Given the description of an element on the screen output the (x, y) to click on. 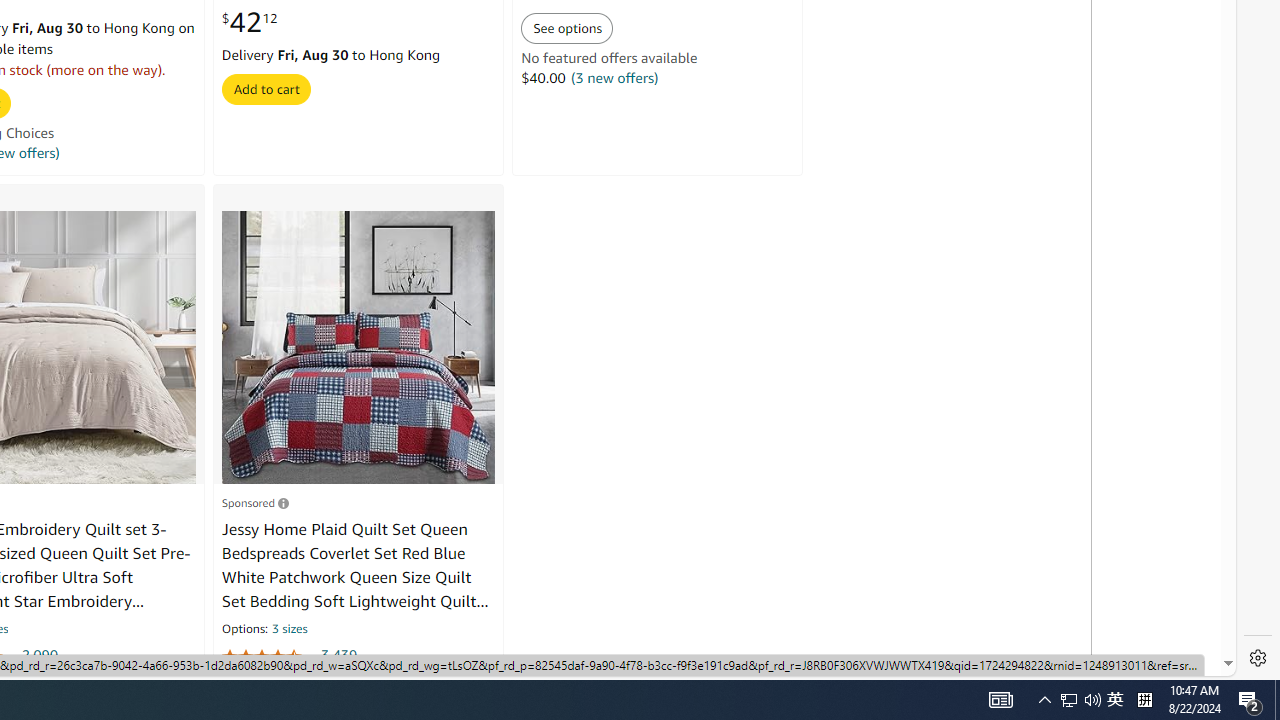
View Sponsored information or leave ad feedback (255, 502)
See options (567, 28)
3,439 (339, 655)
Add to cart (265, 88)
2,090 (38, 655)
4.4 out of 5 stars (269, 655)
$42.12 (249, 23)
3 sizes (289, 629)
(3 new offers) (614, 78)
